Given the description of an element on the screen output the (x, y) to click on. 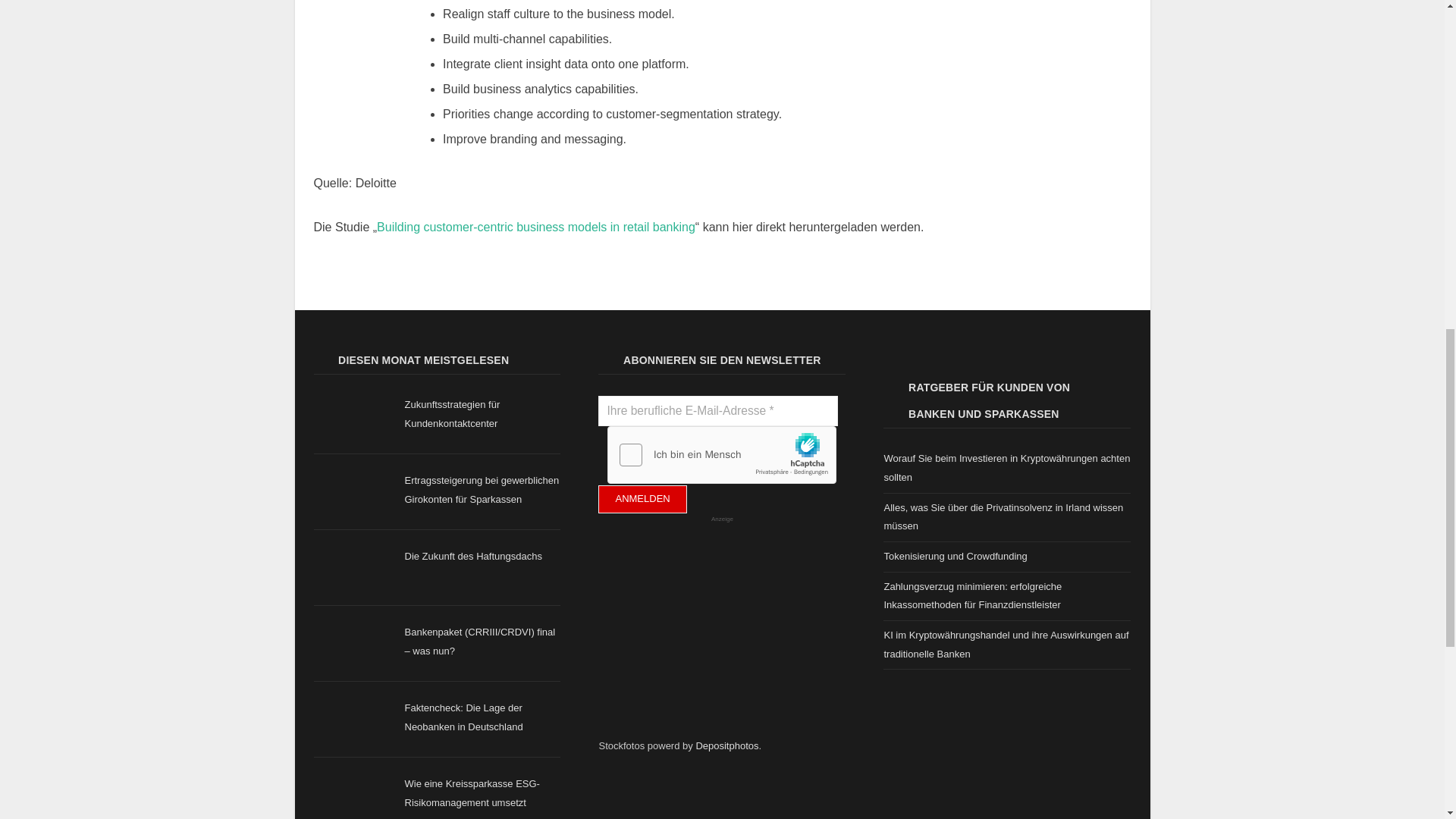
Advertisement (711, 635)
Anmelden (641, 499)
Building customer-centric business models in retail banking (536, 226)
